Given the description of an element on the screen output the (x, y) to click on. 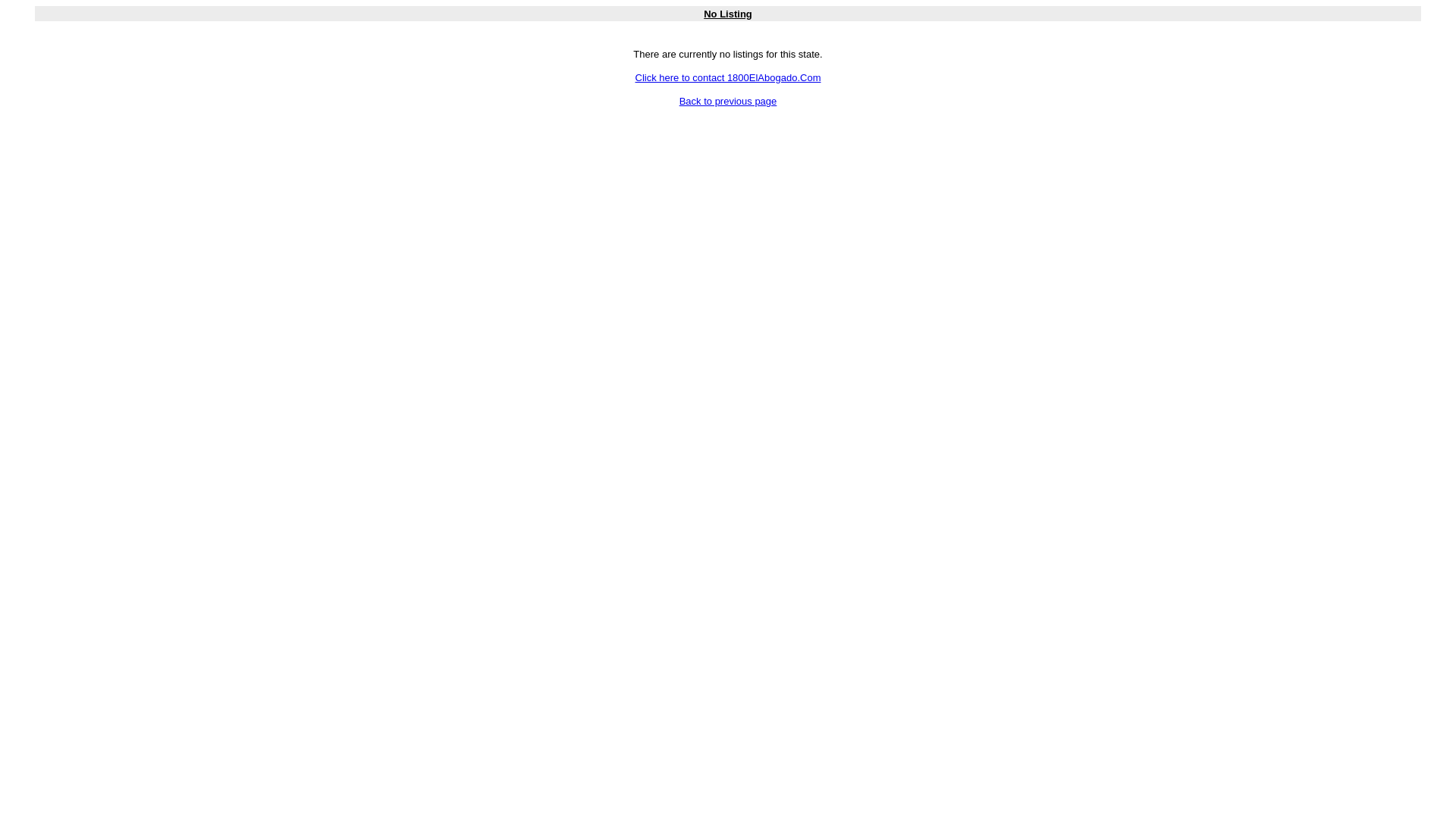
Click here to contact 1800ElAbogado.Com Element type: text (728, 76)
Back to previous page Element type: text (728, 100)
